Given the description of an element on the screen output the (x, y) to click on. 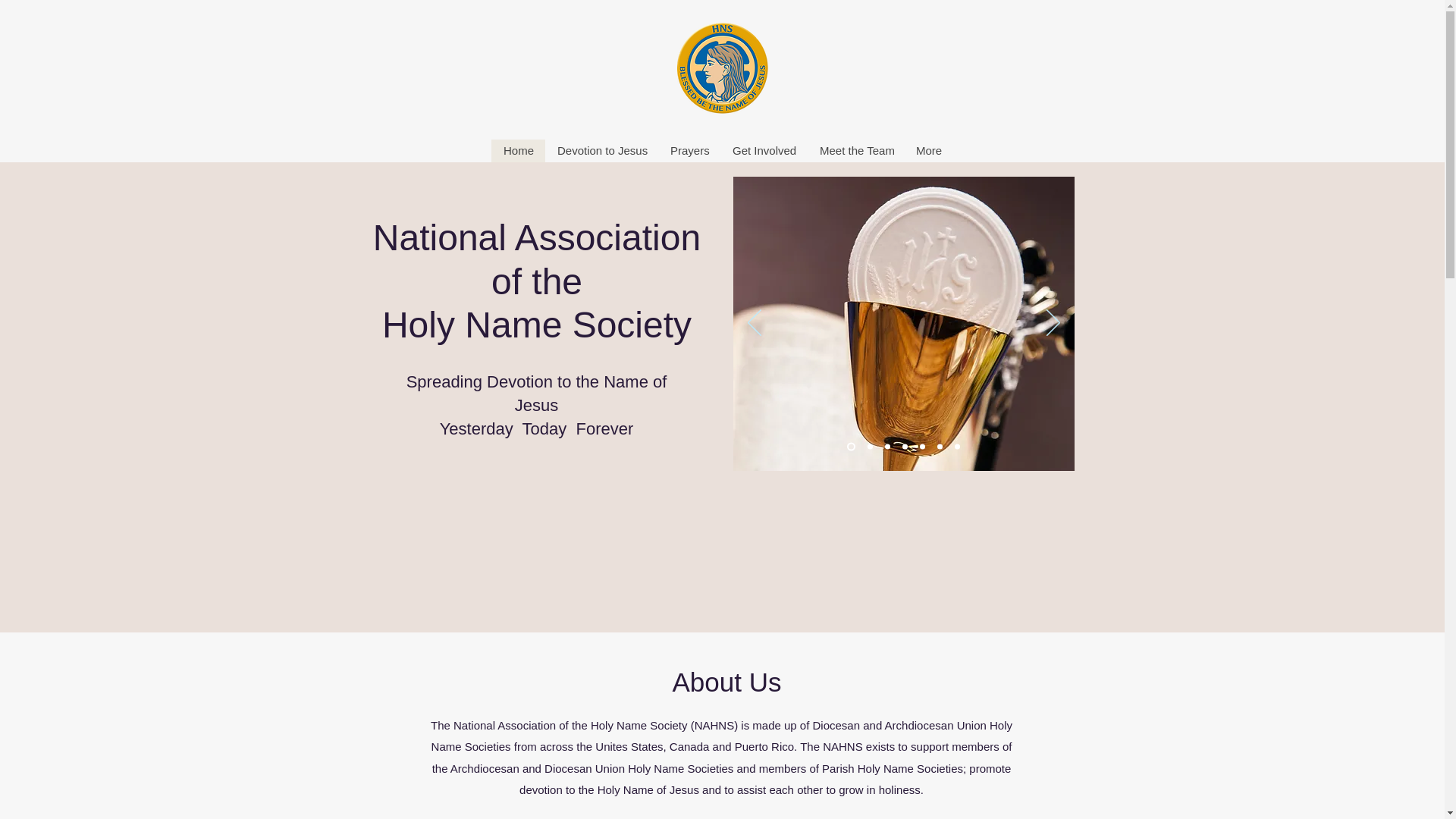
More (928, 150)
Get Involved (764, 150)
Prayers (689, 150)
Meet the Team (856, 150)
Home (518, 150)
Devotion to Jesus (601, 150)
